Given the description of an element on the screen output the (x, y) to click on. 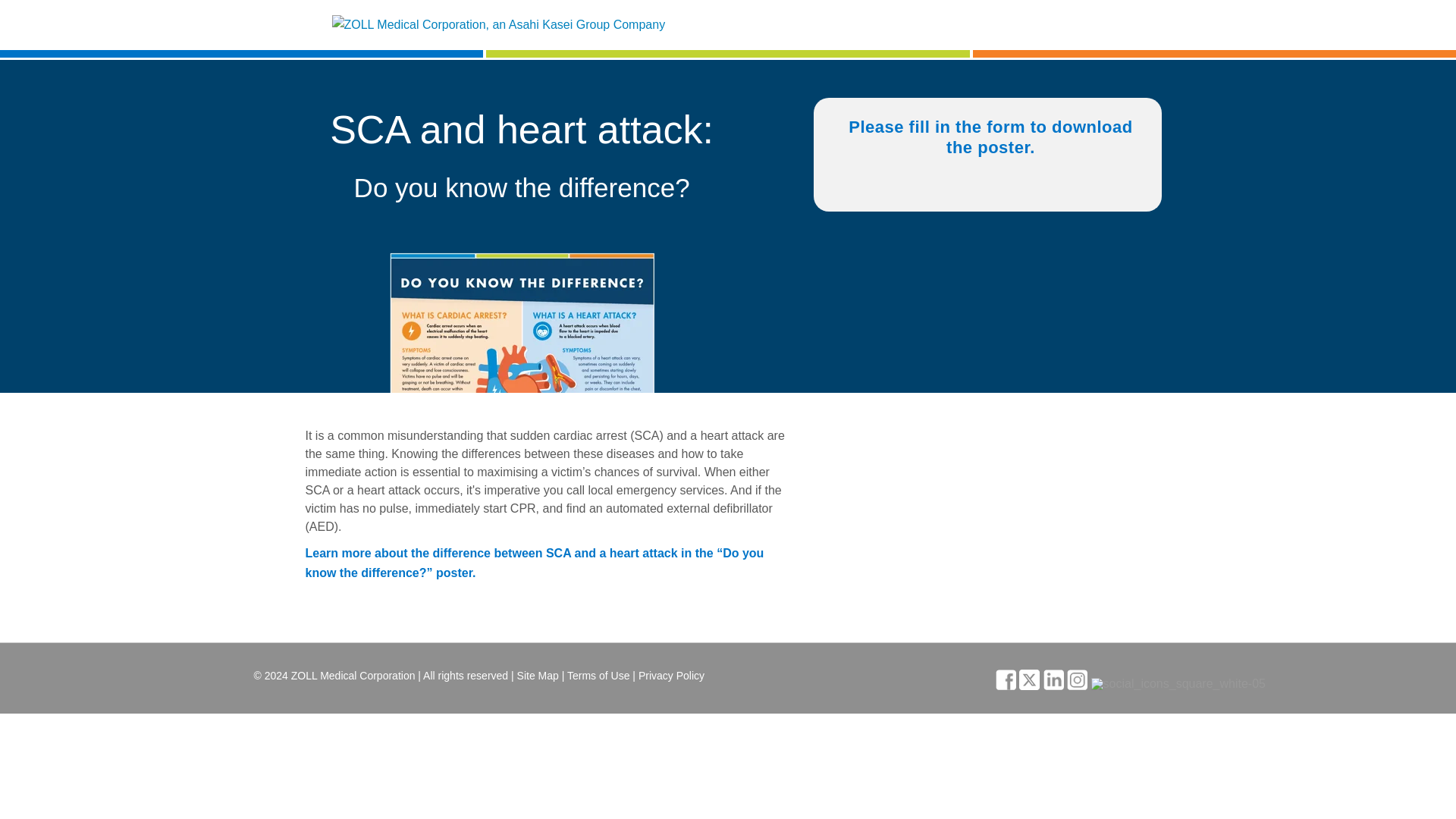
ZOLL Medical Corporation, an Asahi Kasei Group Company (498, 25)
Terms of Use (597, 675)
Site Map (537, 675)
Privacy Policy (671, 675)
